Given the description of an element on the screen output the (x, y) to click on. 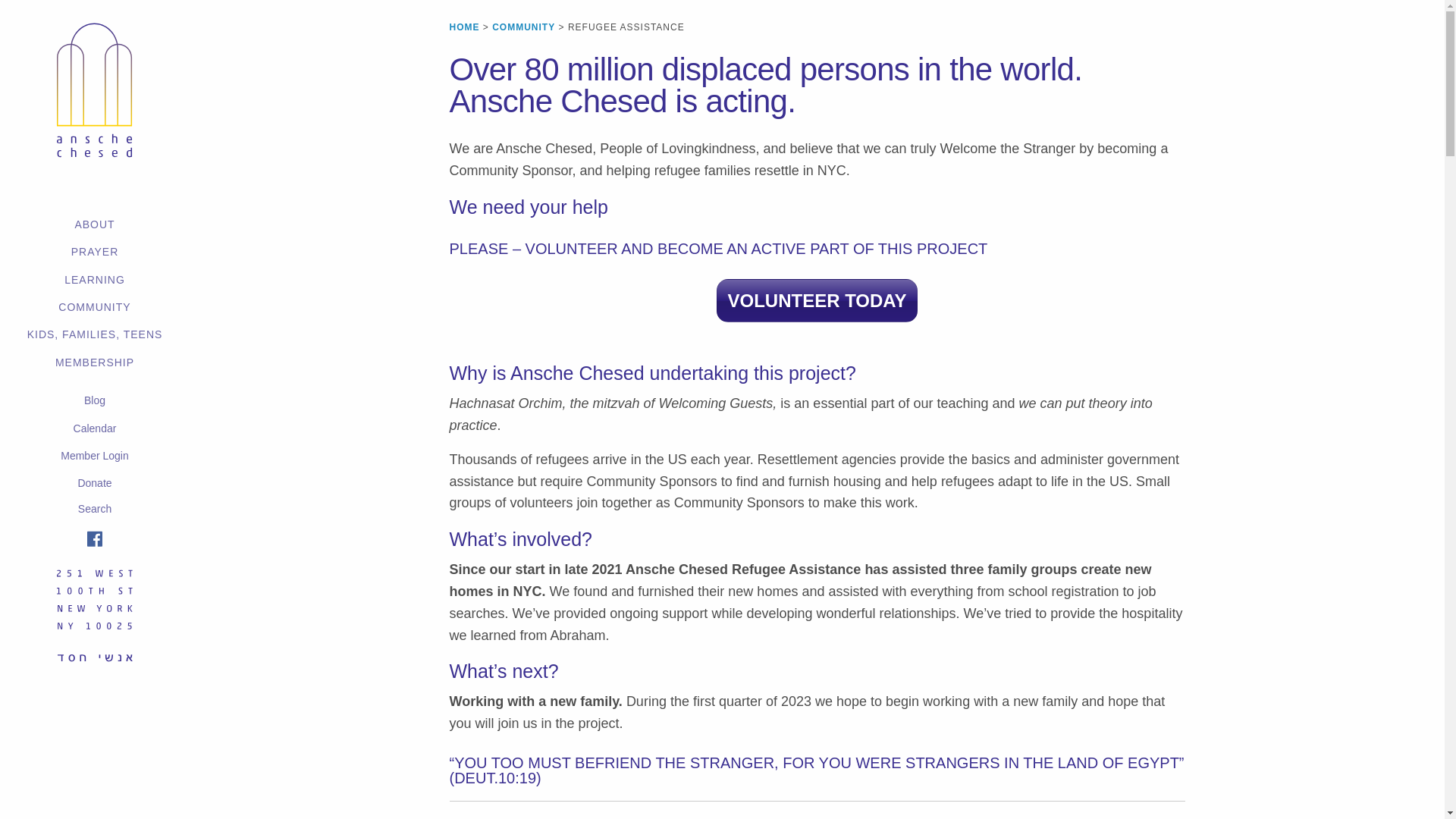
KIDS, FAMILIES, TEENS (94, 334)
MEMBERSHIP (94, 361)
PRAYER (94, 251)
ABOUT (94, 224)
COMMUNITY (94, 307)
LEARNING (94, 279)
